Given the description of an element on the screen output the (x, y) to click on. 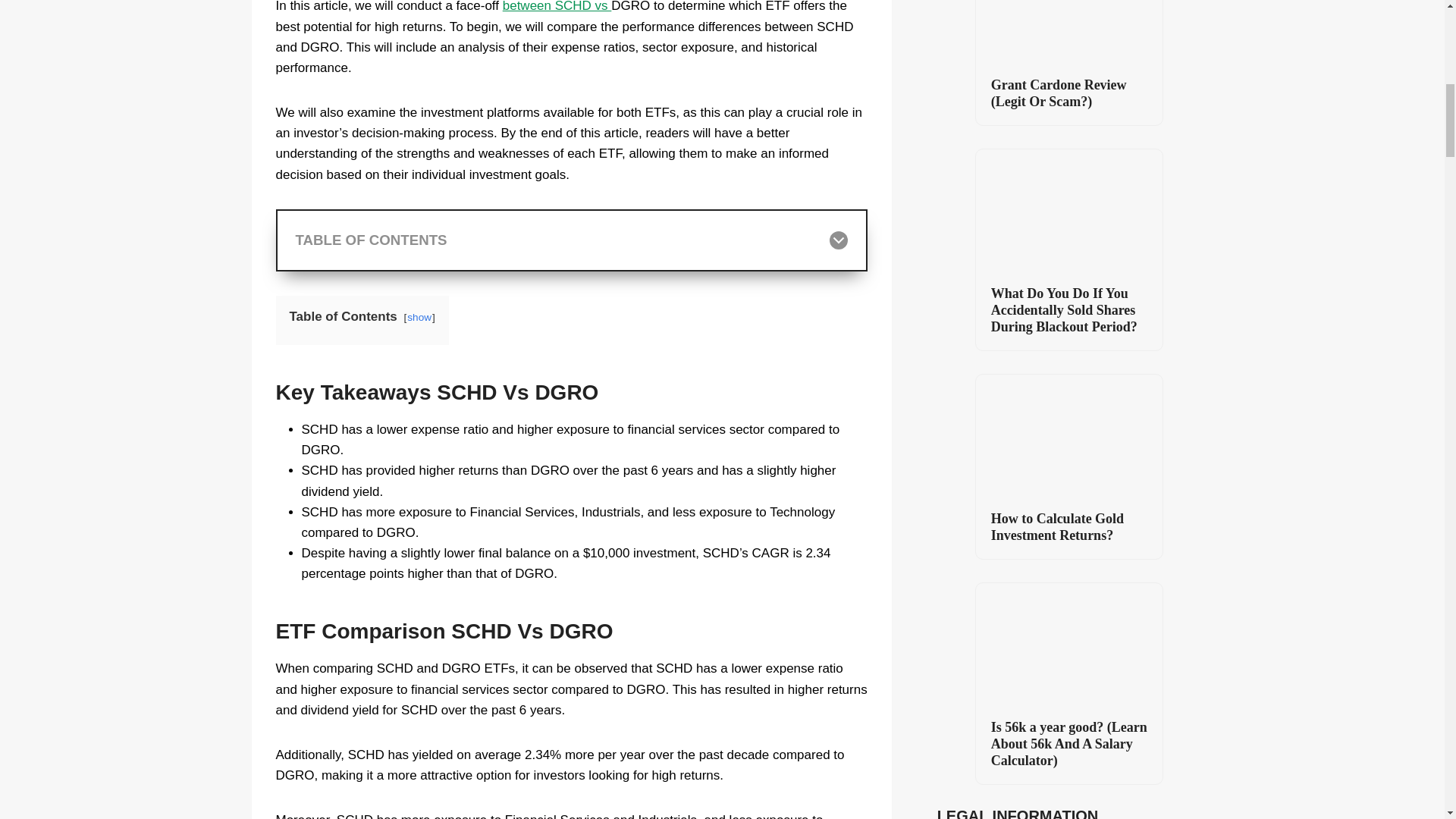
TABLE OF CONTENTS (571, 240)
TABLE OF CONTENTS (571, 240)
How to Calculate Gold Investment Returns? 20 (1068, 436)
between SCHD vs (556, 6)
show (418, 317)
